Given the description of an element on the screen output the (x, y) to click on. 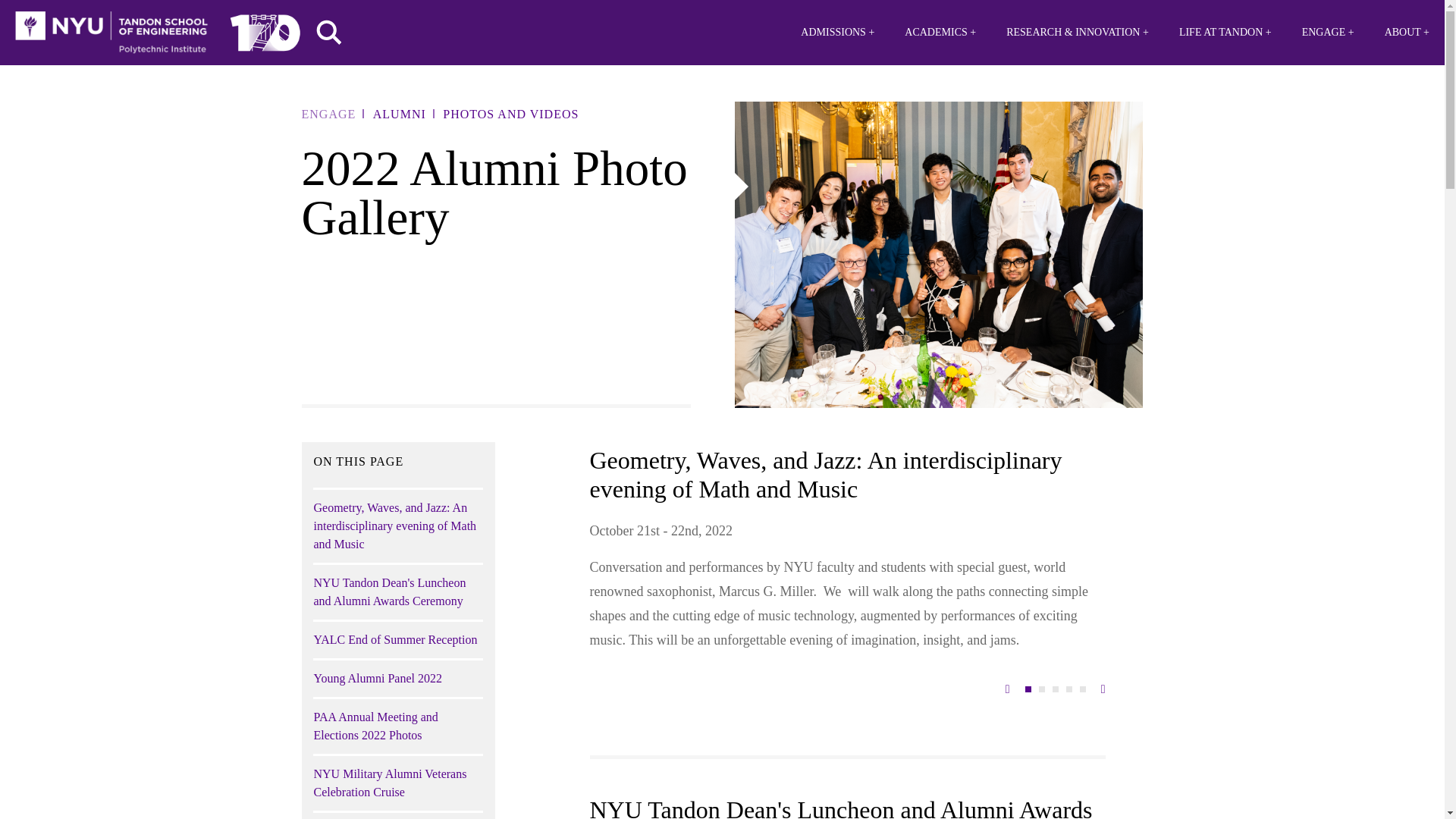
NYU Tandon School of Engineering - Polytechnic Institute (111, 32)
NYU Tandon Logo (111, 32)
NYU Tandon Anniversary (264, 29)
